Given the description of an element on the screen output the (x, y) to click on. 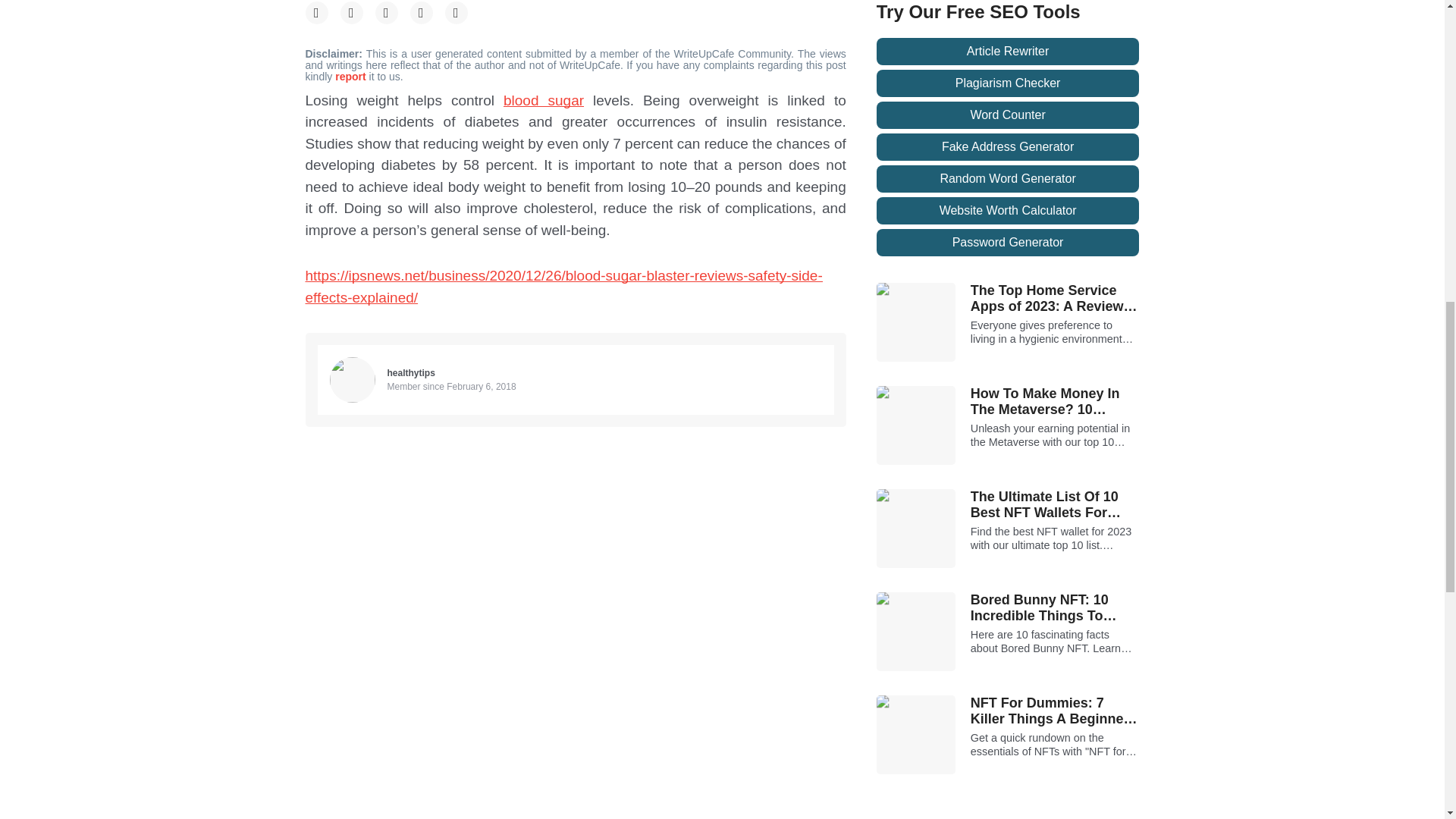
Word Counter (1008, 114)
Article Rewriter (1008, 51)
Website Worth Calculator (1008, 210)
report (351, 76)
The Top Home Service Apps of 2023: A Review and Comparison (1055, 298)
blood sugar (543, 100)
Plagiarism Checker (1008, 83)
